Given the description of an element on the screen output the (x, y) to click on. 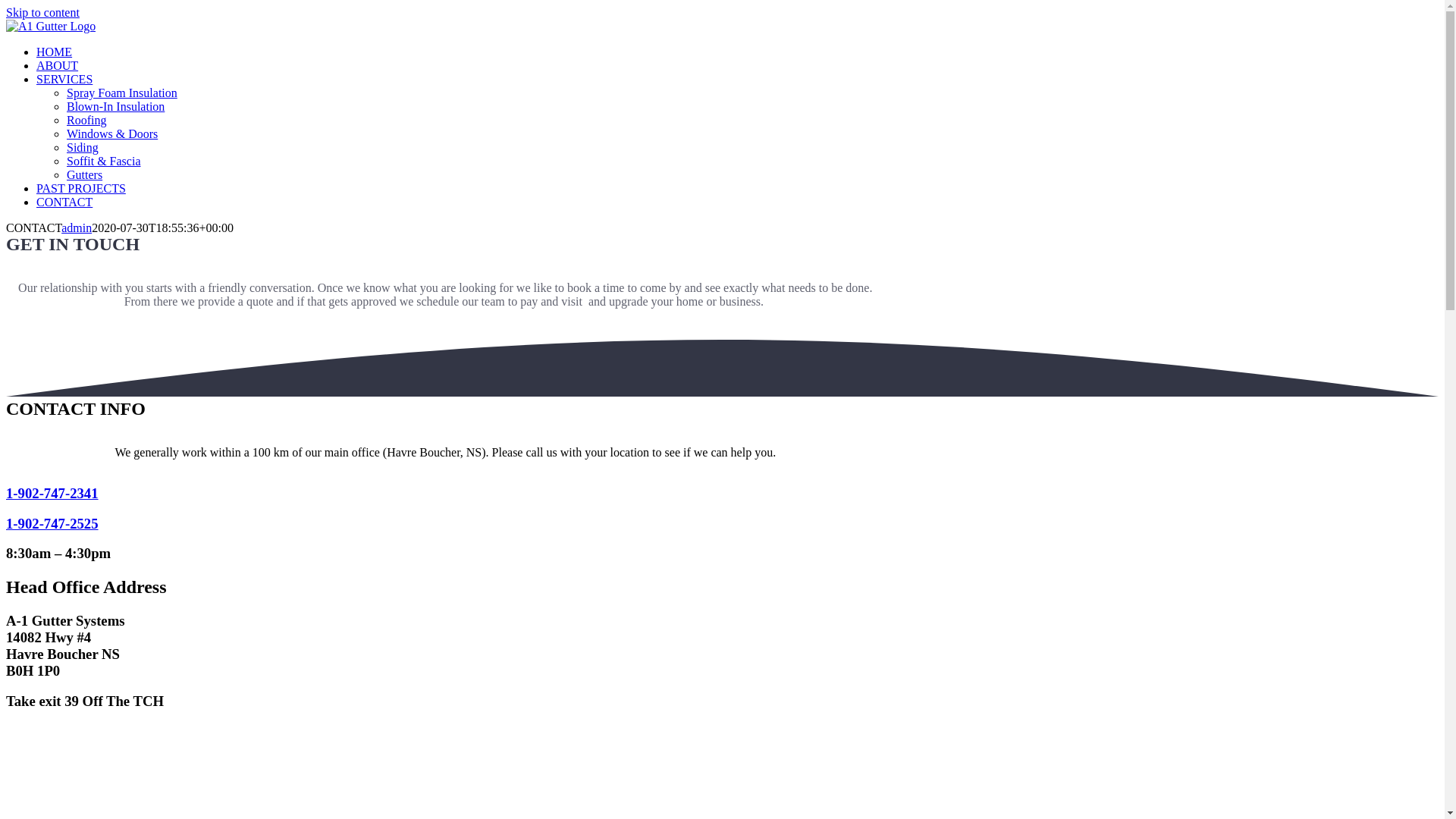
admin Element type: text (76, 227)
Siding Element type: text (82, 147)
HOME Element type: text (54, 51)
Windows & Doors Element type: text (111, 133)
1-902-747-2341 Element type: text (52, 493)
1-902-747-2525 Element type: text (52, 523)
Spray Foam Insulation Element type: text (121, 92)
Blown-In Insulation Element type: text (115, 106)
SERVICES Element type: text (64, 78)
ABOUT Element type: text (57, 65)
Gutters Element type: text (84, 174)
Skip to content Element type: text (42, 12)
Roofing Element type: text (86, 119)
CONTACT Element type: text (64, 201)
Soffit & Fascia Element type: text (103, 160)
PAST PROJECTS Element type: text (80, 188)
